Given the description of an element on the screen output the (x, y) to click on. 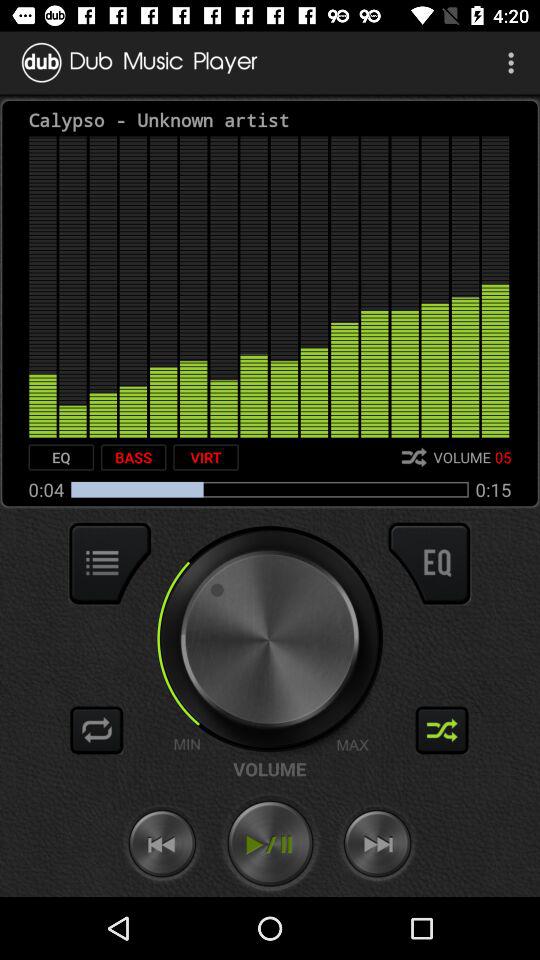
skip track (377, 844)
